Given the description of an element on the screen output the (x, y) to click on. 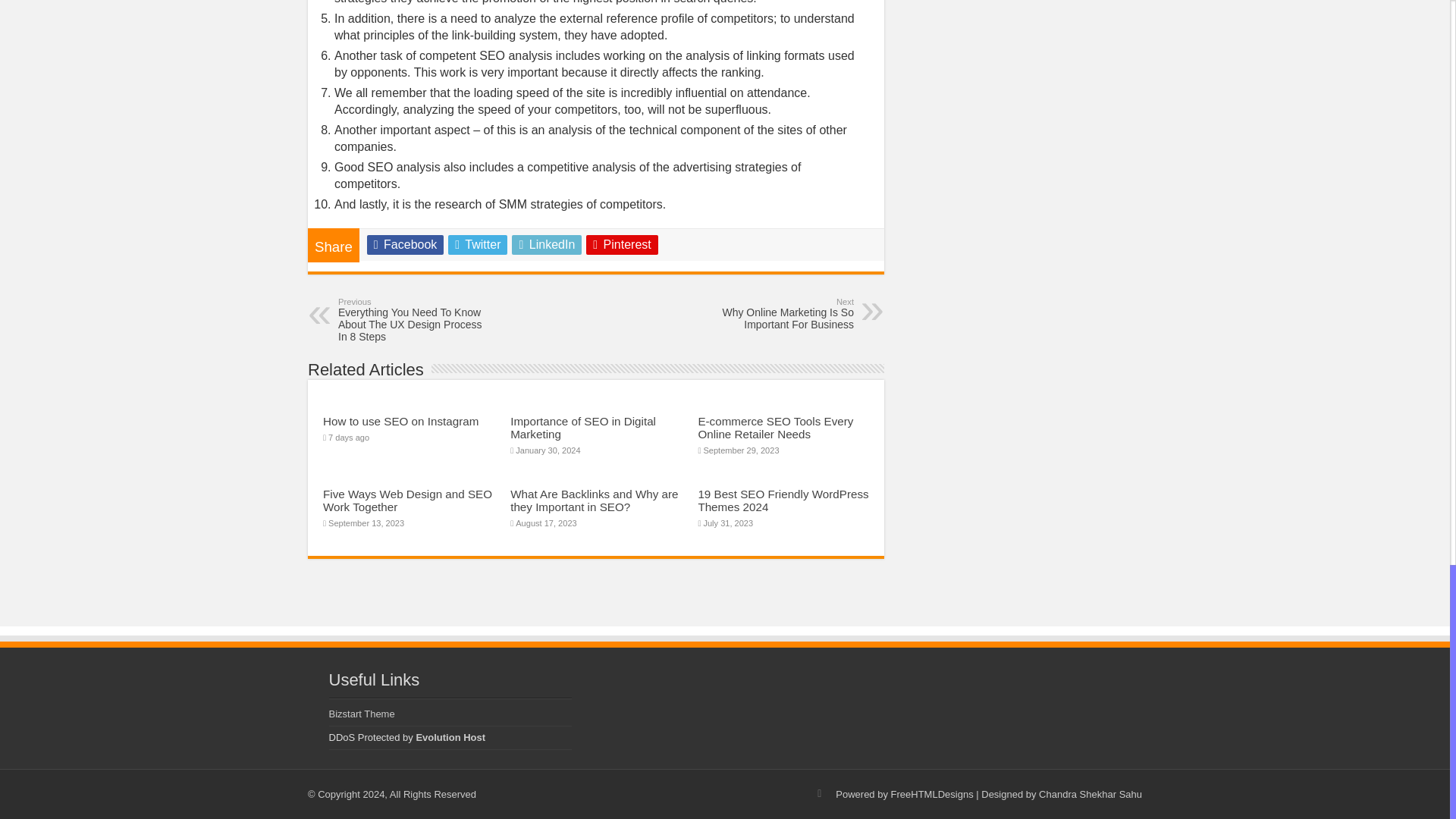
E-commerce SEO Tools Every Online Retailer Needs (775, 427)
Facebook (405, 244)
Twitter (477, 244)
Importance of SEO in Digital Marketing (583, 427)
Five Ways Web Design and SEO Work Together (407, 500)
How to use SEO on Instagram (401, 420)
LinkedIn (546, 244)
Pinterest (622, 244)
